Given the description of an element on the screen output the (x, y) to click on. 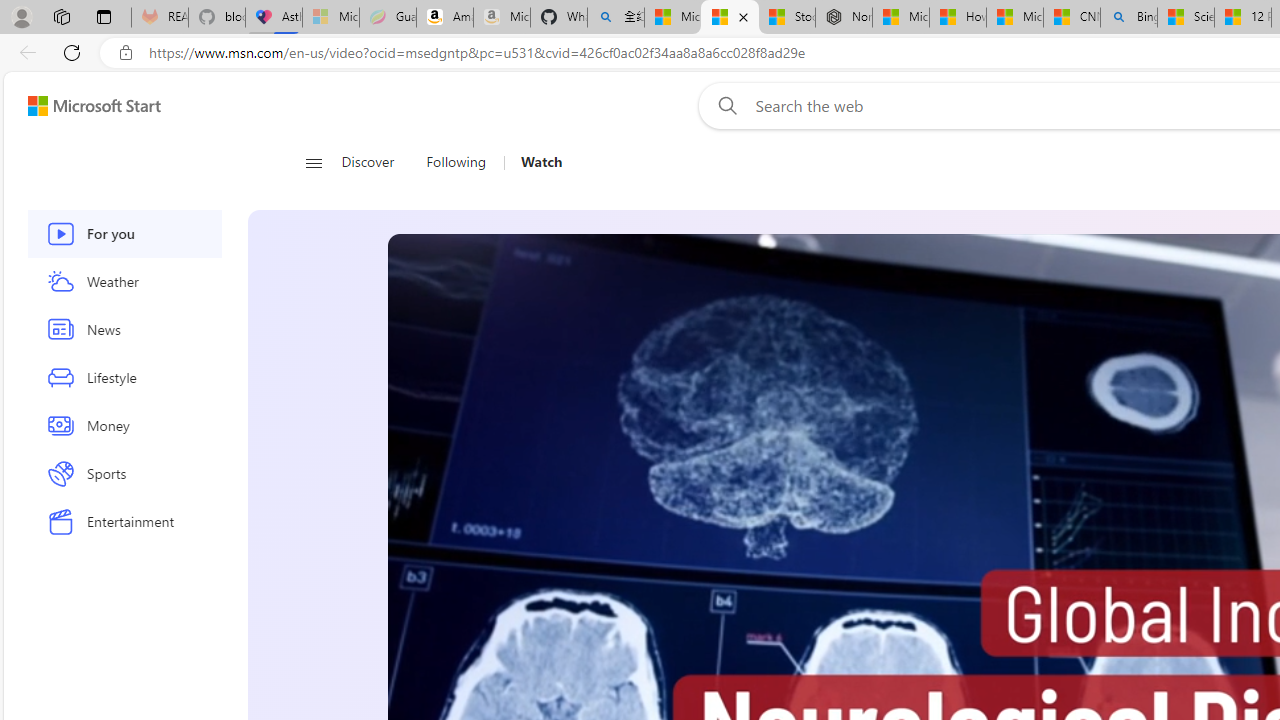
CNN - MSN (1071, 17)
